Given the description of an element on the screen output the (x, y) to click on. 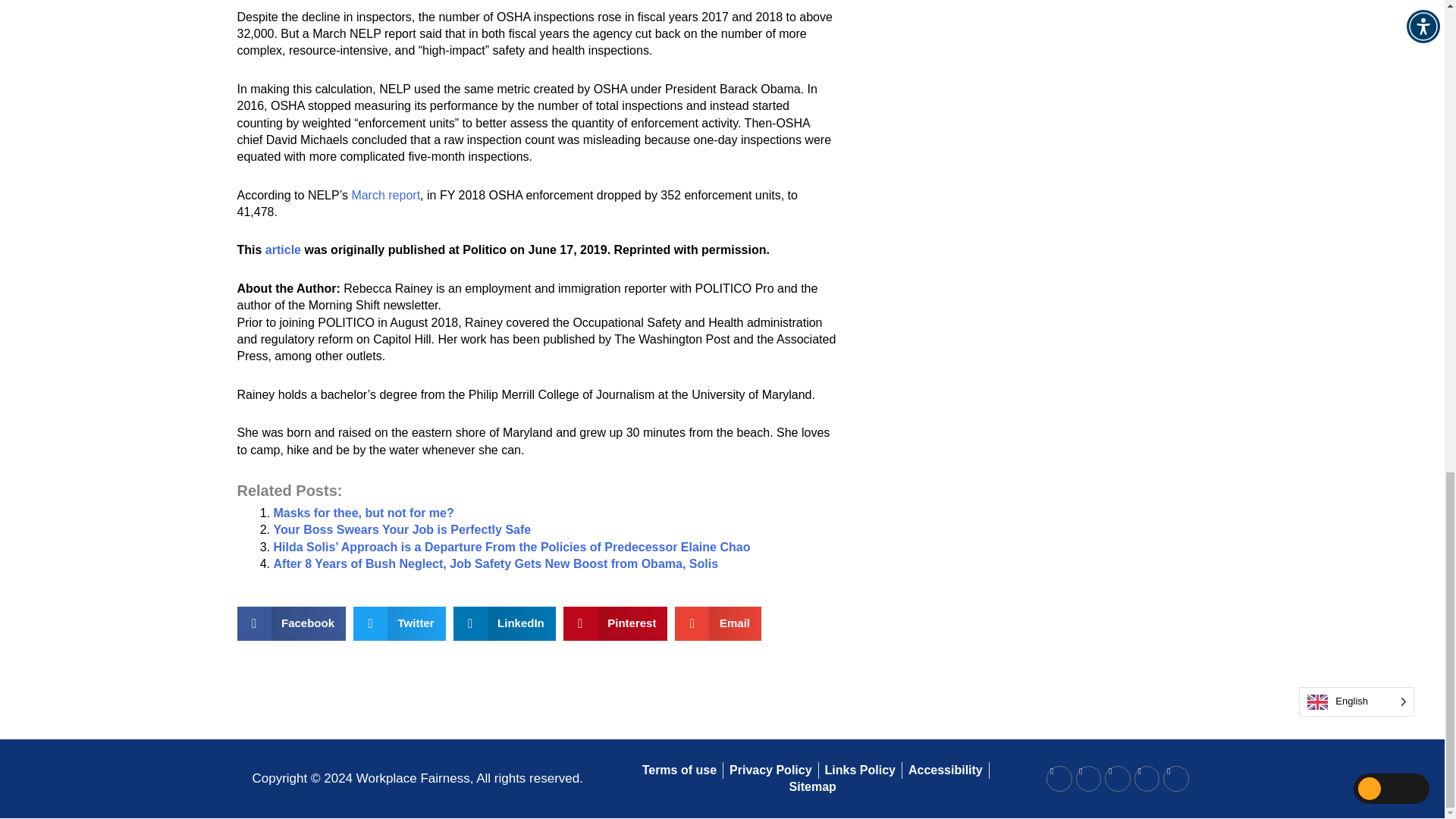
Masks for thee, but not for me? (362, 512)
Your Boss Swears Your Job is Perfectly Safe (402, 529)
